Given the description of an element on the screen output the (x, y) to click on. 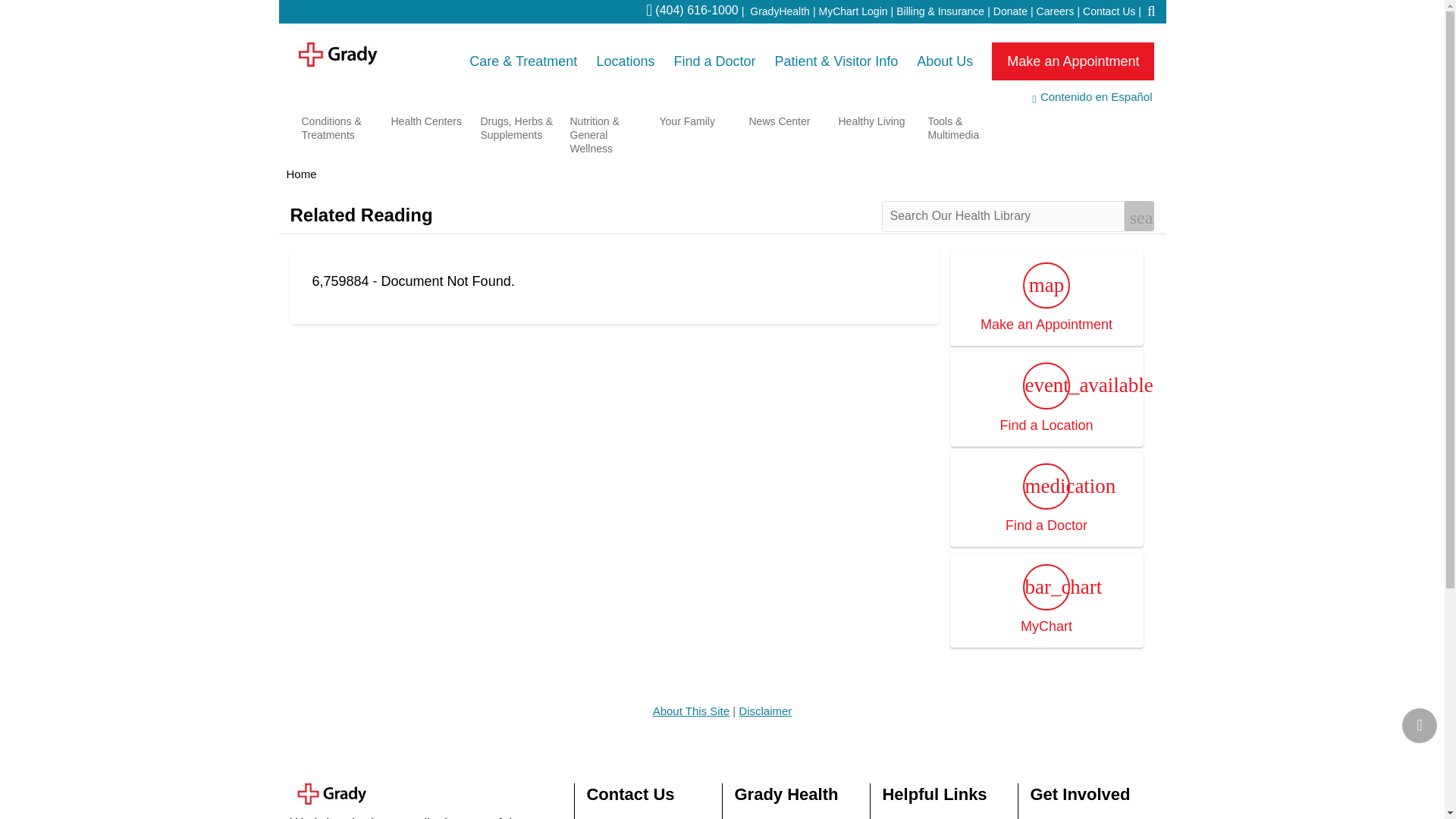
About Us (944, 61)
Donate - opens in a new window (1009, 10)
MyChart Login - opens in a new window (853, 10)
Contact Us (1109, 10)
Locations (624, 61)
GradyHealth (779, 10)
Careers (1055, 10)
Find a Doctor (713, 61)
GradyHealth (779, 10)
Locations (624, 61)
Find a Doctor (713, 61)
Contact Us (1109, 10)
Donate (1072, 61)
